Given the description of an element on the screen output the (x, y) to click on. 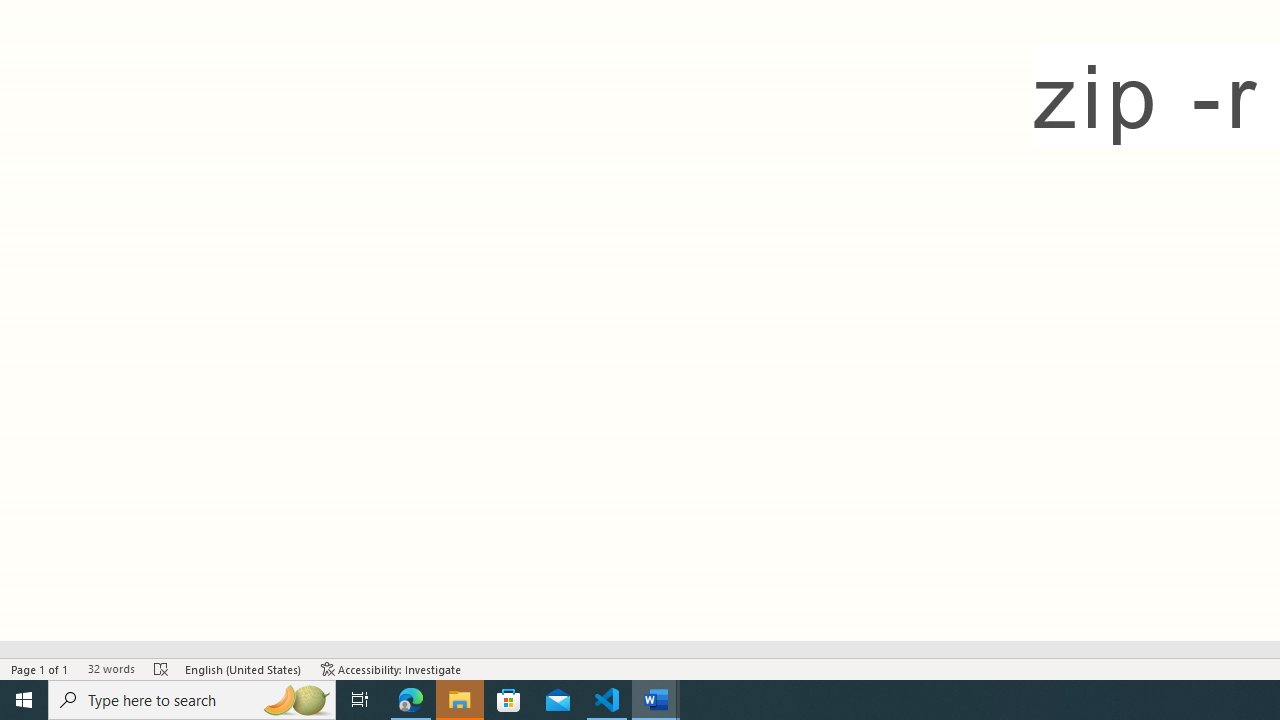
Page Number Page 1 of 1 (39, 668)
Word Count 32 words (111, 668)
Spelling and Grammar Check Errors (161, 668)
